Given the description of an element on the screen output the (x, y) to click on. 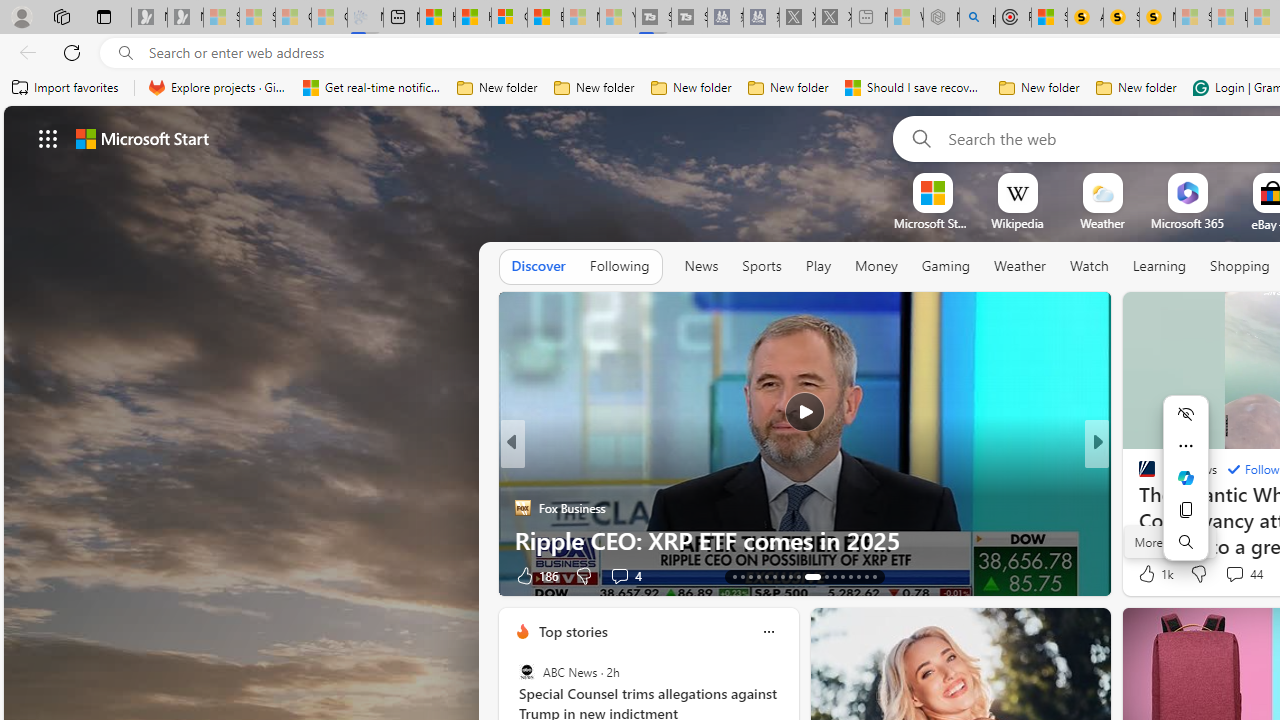
5 Like (1145, 574)
Sports (761, 267)
Tab actions menu (104, 16)
AutomationID: tab-18 (774, 576)
AutomationID: tab-24 (833, 576)
21 Like (1149, 574)
AutomationID: tab-15 (750, 576)
AutomationID: tab-16 (757, 576)
App launcher (47, 138)
Should I save recovered Word documents? - Microsoft Support (913, 88)
Hide menu (1185, 413)
AutomationID: tab-26 (850, 576)
Start the conversation (1222, 575)
Mini menu on text selection (1185, 489)
